Given the description of an element on the screen output the (x, y) to click on. 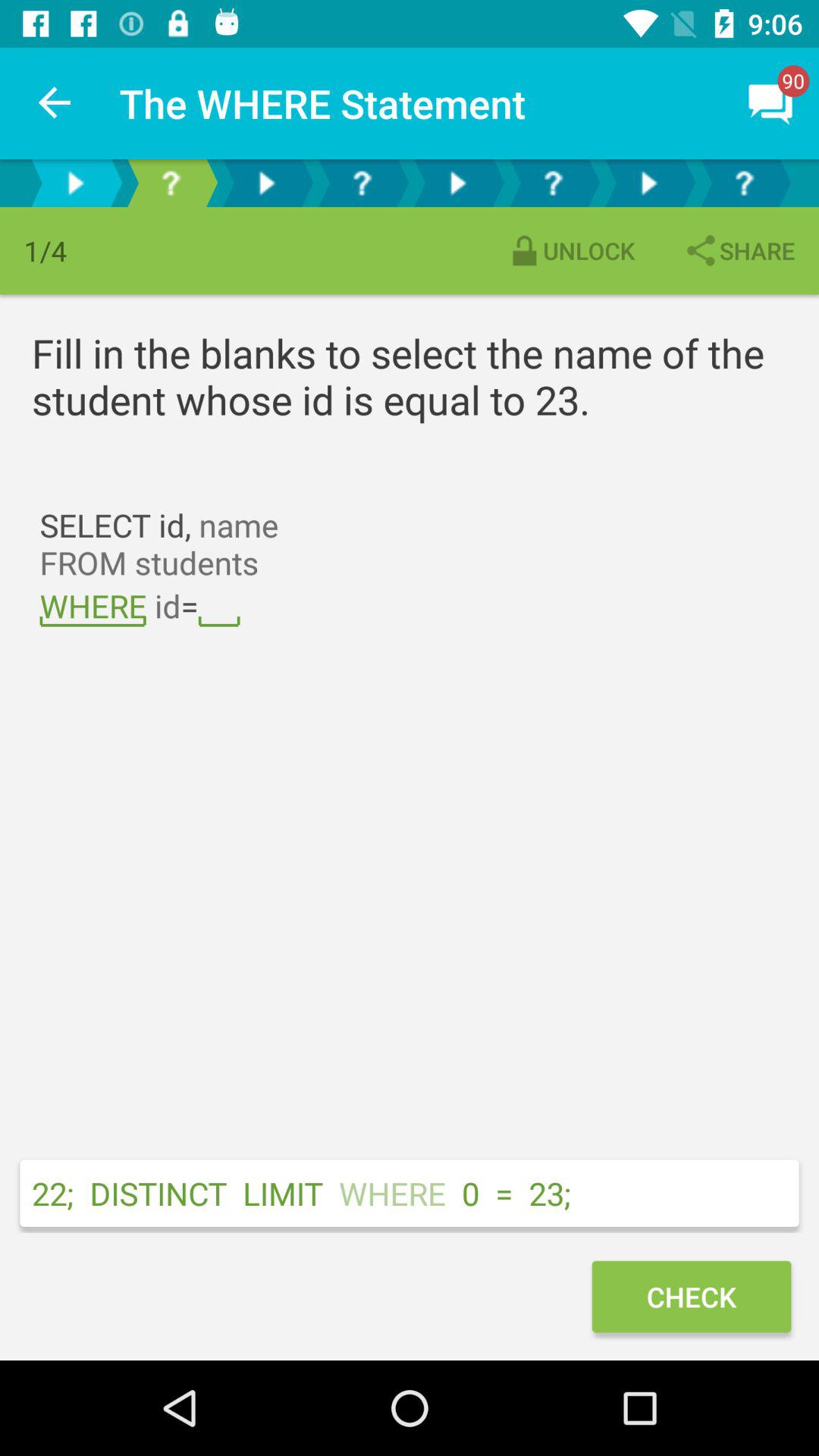
open the icon above fill in the (570, 250)
